Given the description of an element on the screen output the (x, y) to click on. 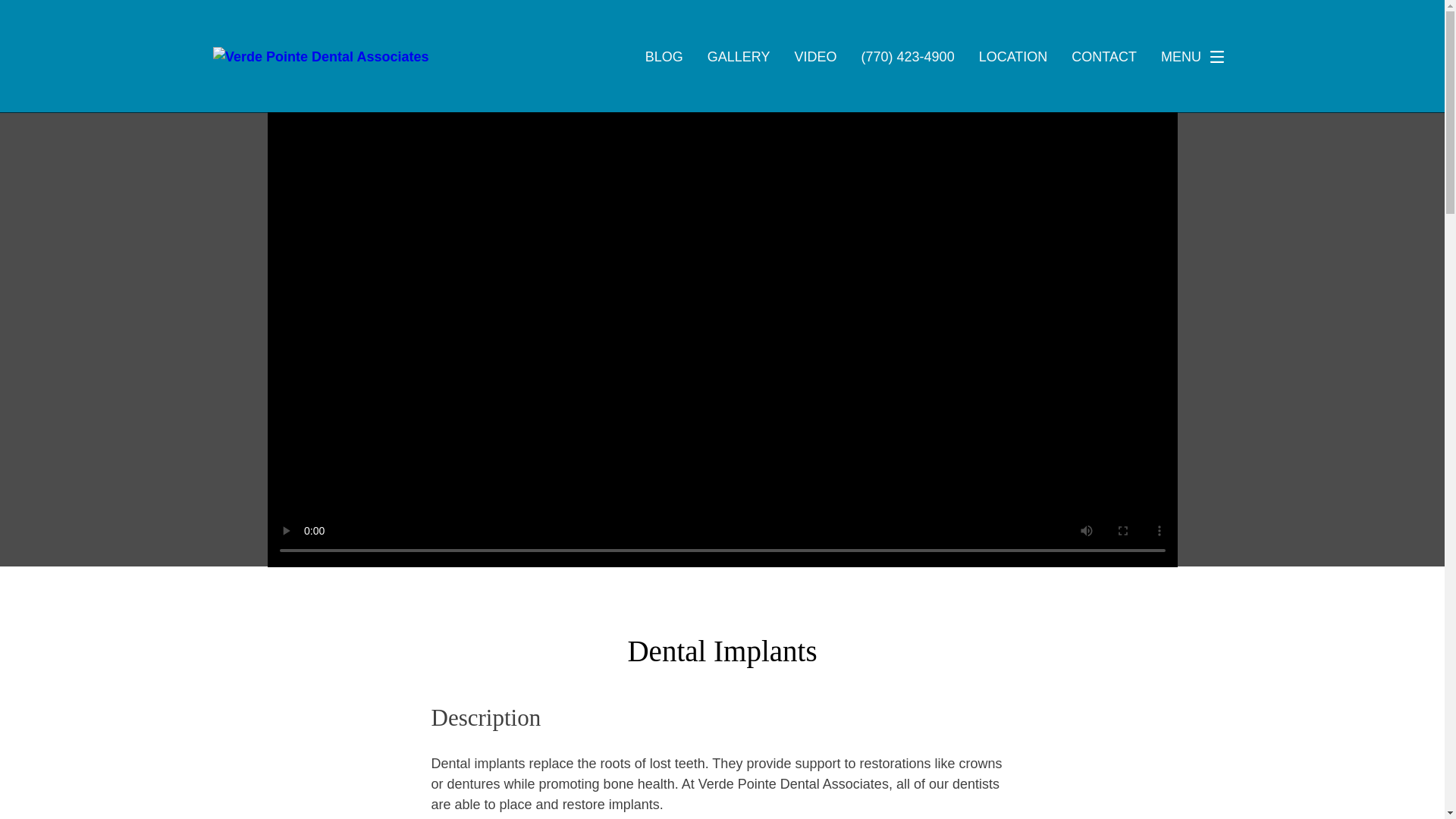
LOCATION (1013, 56)
VIDEO (815, 56)
CONTACT (1104, 56)
MENU (1196, 56)
